Given the description of an element on the screen output the (x, y) to click on. 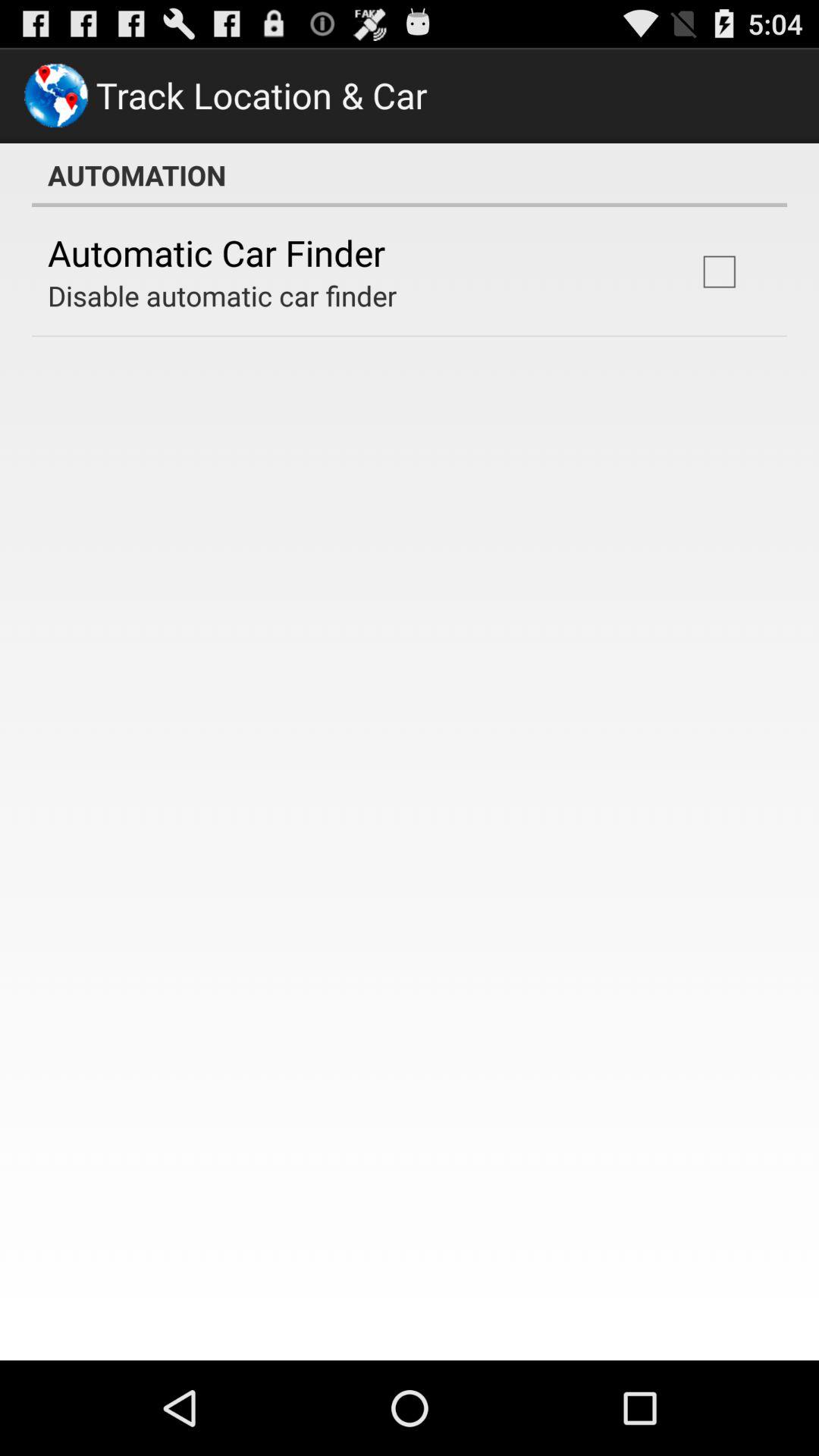
swipe until automation item (409, 175)
